Given the description of an element on the screen output the (x, y) to click on. 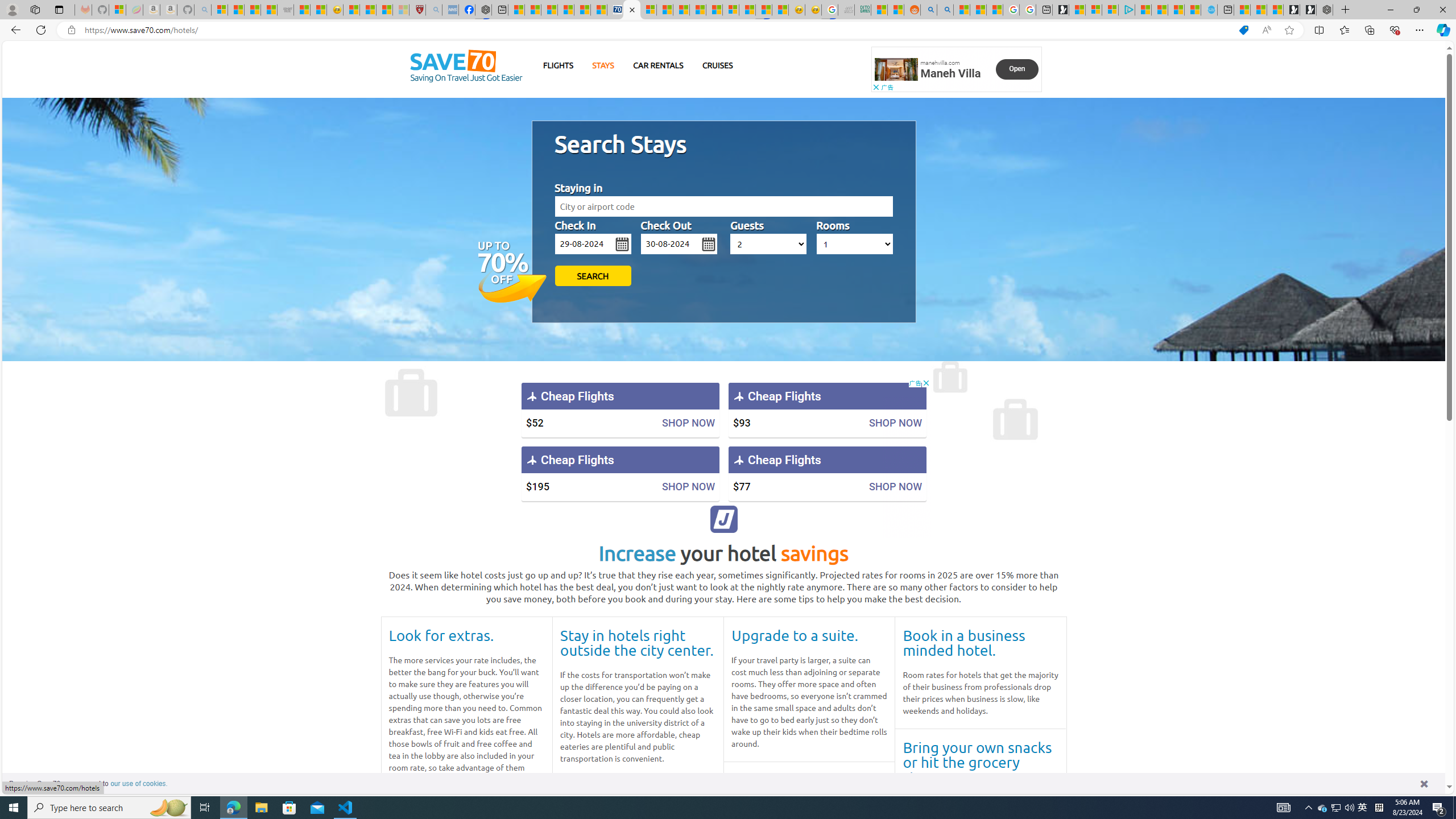
Cheap Flights $93 SHOP NOW (827, 409)
Class: ns-pn6gp-e-16 svg-anchor (896, 69)
manehvilla.com (939, 62)
